Given the description of an element on the screen output the (x, y) to click on. 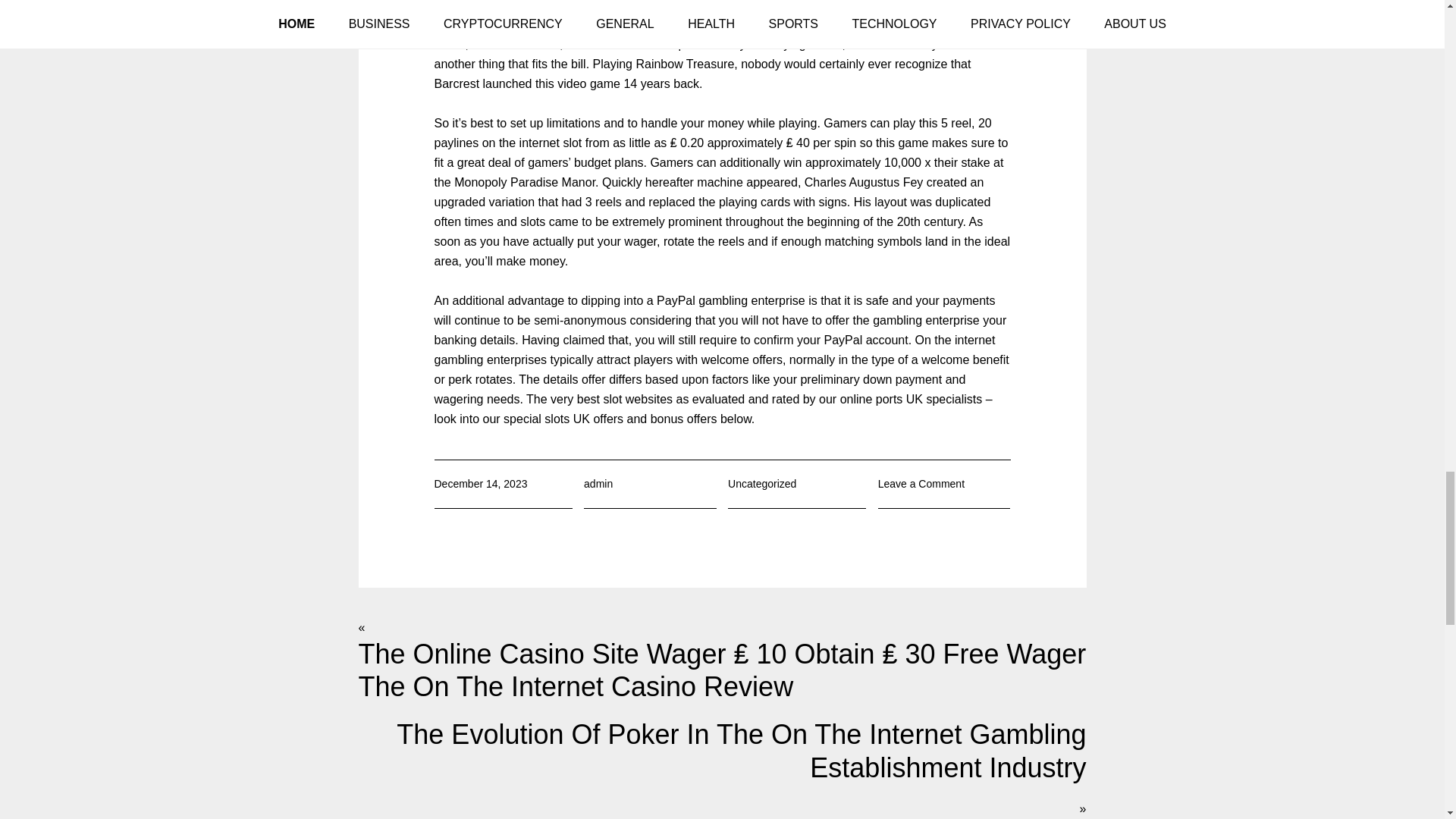
admin (597, 483)
Leave a Comment (920, 483)
Uncategorized (762, 483)
